Given the description of an element on the screen output the (x, y) to click on. 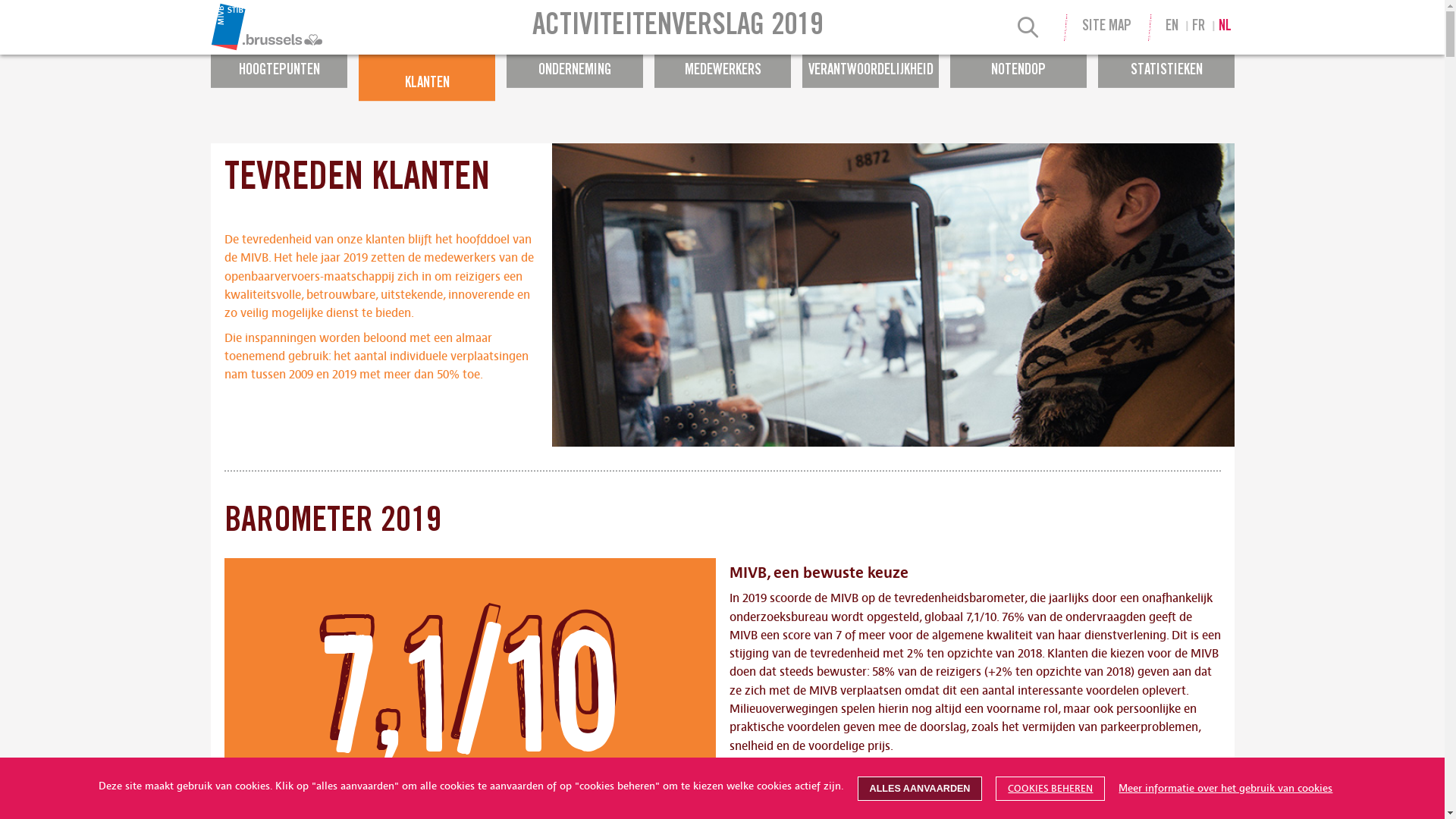
Meer informatie over het gebruik van cookies Element type: text (1225, 787)
COOKIES BEHEREN Element type: text (1049, 788)
Search Element type: hover (1028, 29)
NL Element type: text (1224, 26)
ONDERNEMING Element type: text (574, 63)
KLANTEN Element type: text (425, 76)
Onze medewerkers in het nieuw Element type: text (664, 19)
MEDEWERKERS Element type: text (721, 63)
VERANTWOORDELIJKHEID Element type: text (870, 63)
EN Element type: text (1172, 26)
FR Element type: text (1198, 26)
NOTENDOP Element type: text (1017, 63)
HOOGTEPUNTEN Element type: text (278, 63)
ALLES AANVAARDEN Element type: text (919, 788)
STATISTIEKEN Element type: text (1166, 63)
